Given the description of an element on the screen output the (x, y) to click on. 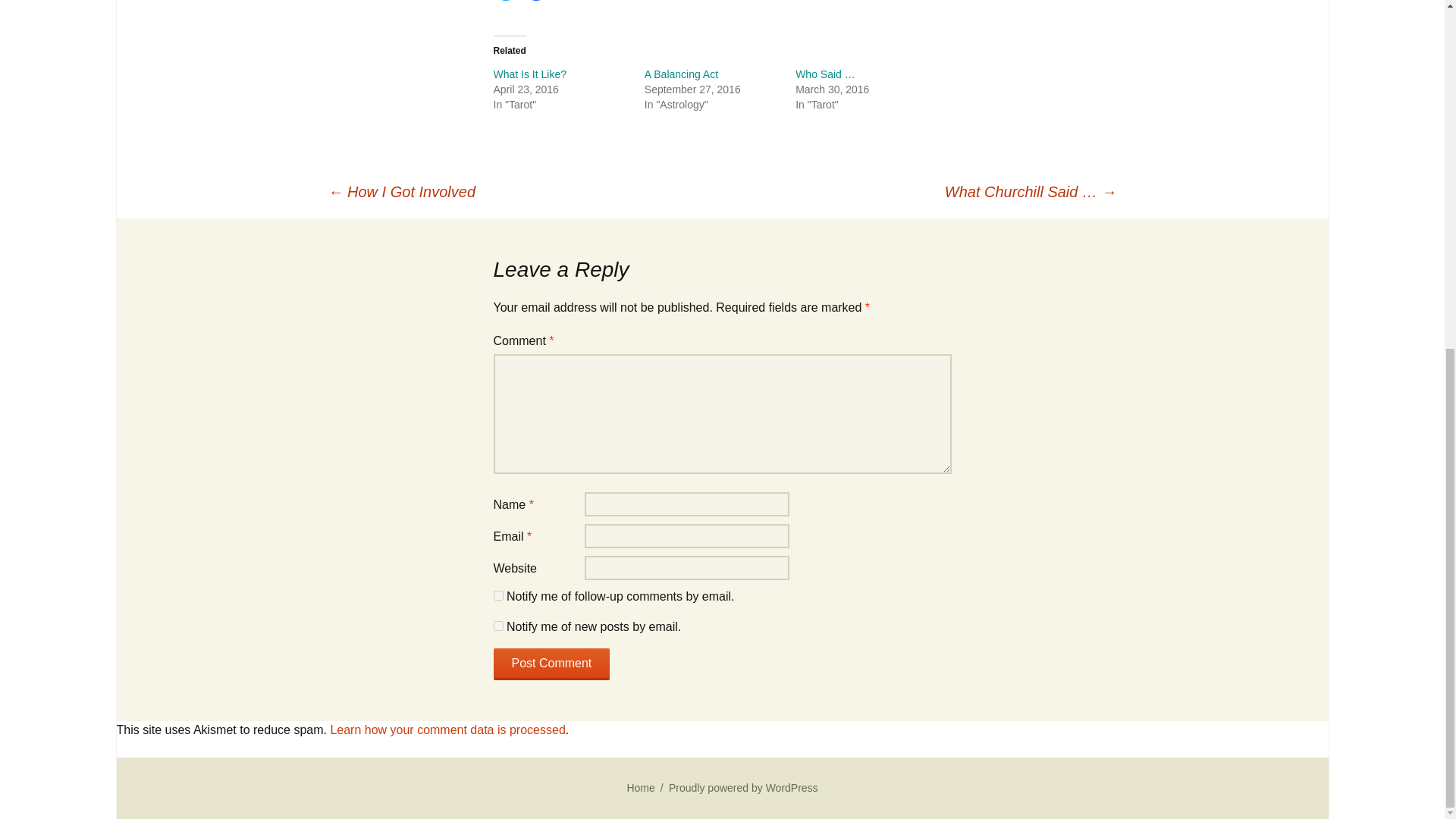
What Is It Like? (529, 73)
A Balancing Act (681, 73)
subscribe (497, 595)
A Balancing Act (681, 73)
What Is It Like? (529, 73)
Learn how your comment data is processed (447, 729)
Post Comment (551, 664)
Post Comment (551, 664)
Proudly powered by WordPress (743, 787)
subscribe (497, 625)
Home (639, 787)
